Given the description of an element on the screen output the (x, y) to click on. 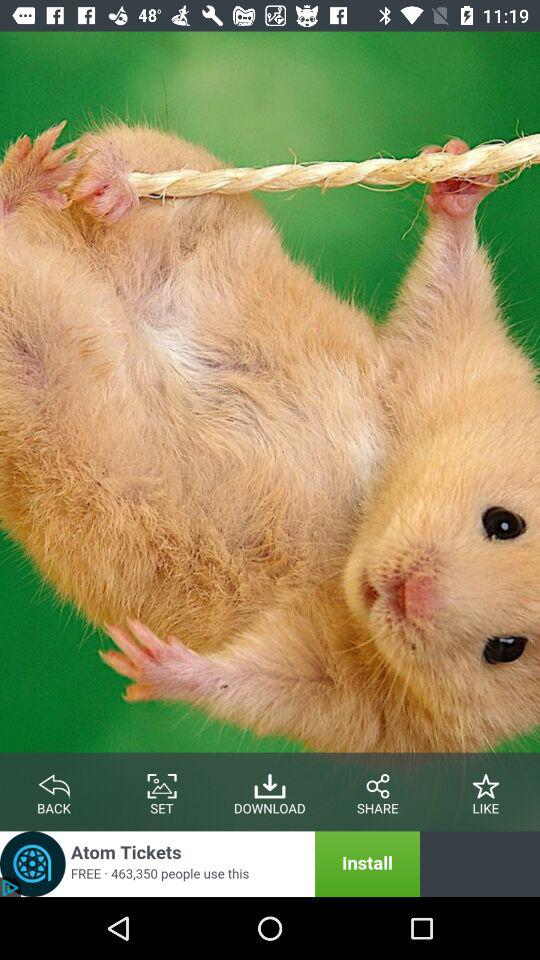
go back (53, 782)
